Given the description of an element on the screen output the (x, y) to click on. 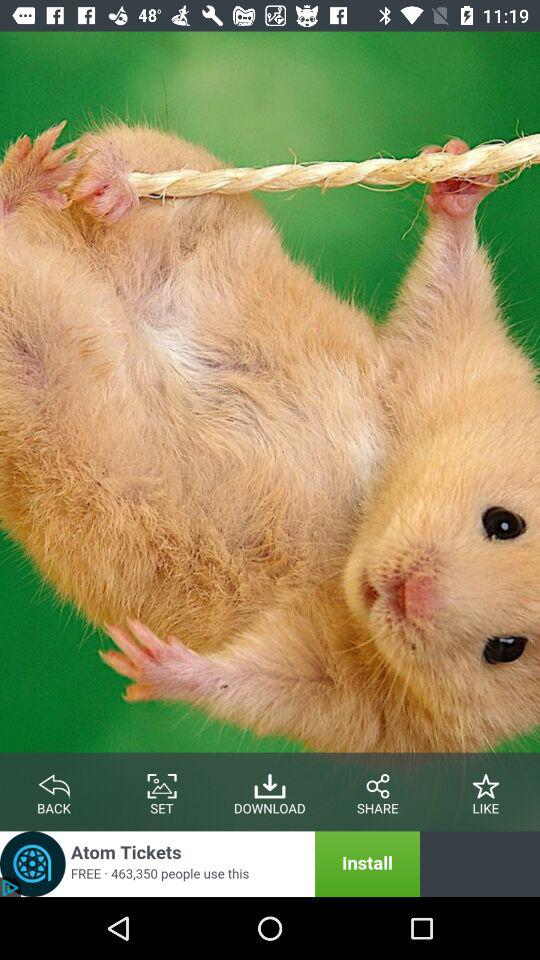
go back (53, 782)
